Given the description of an element on the screen output the (x, y) to click on. 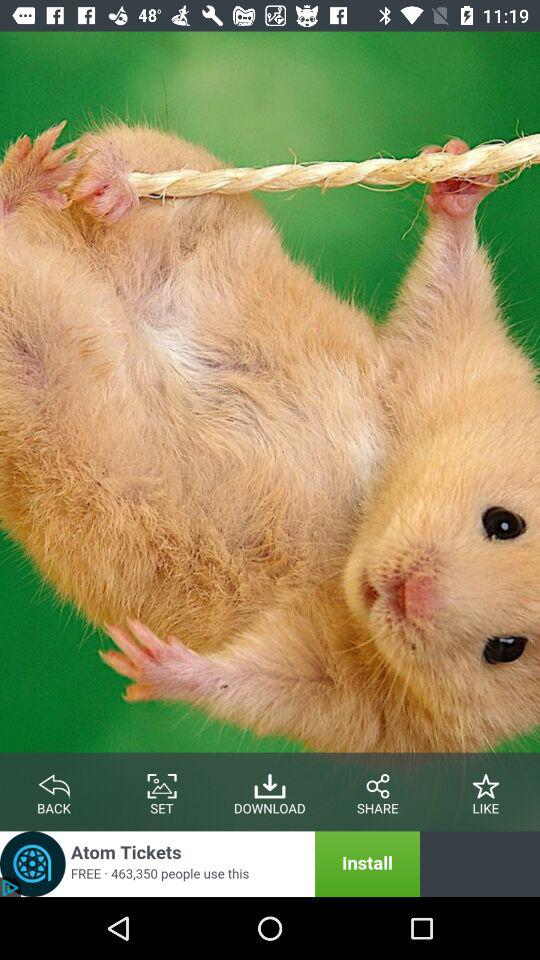
go back (53, 782)
